Given the description of an element on the screen output the (x, y) to click on. 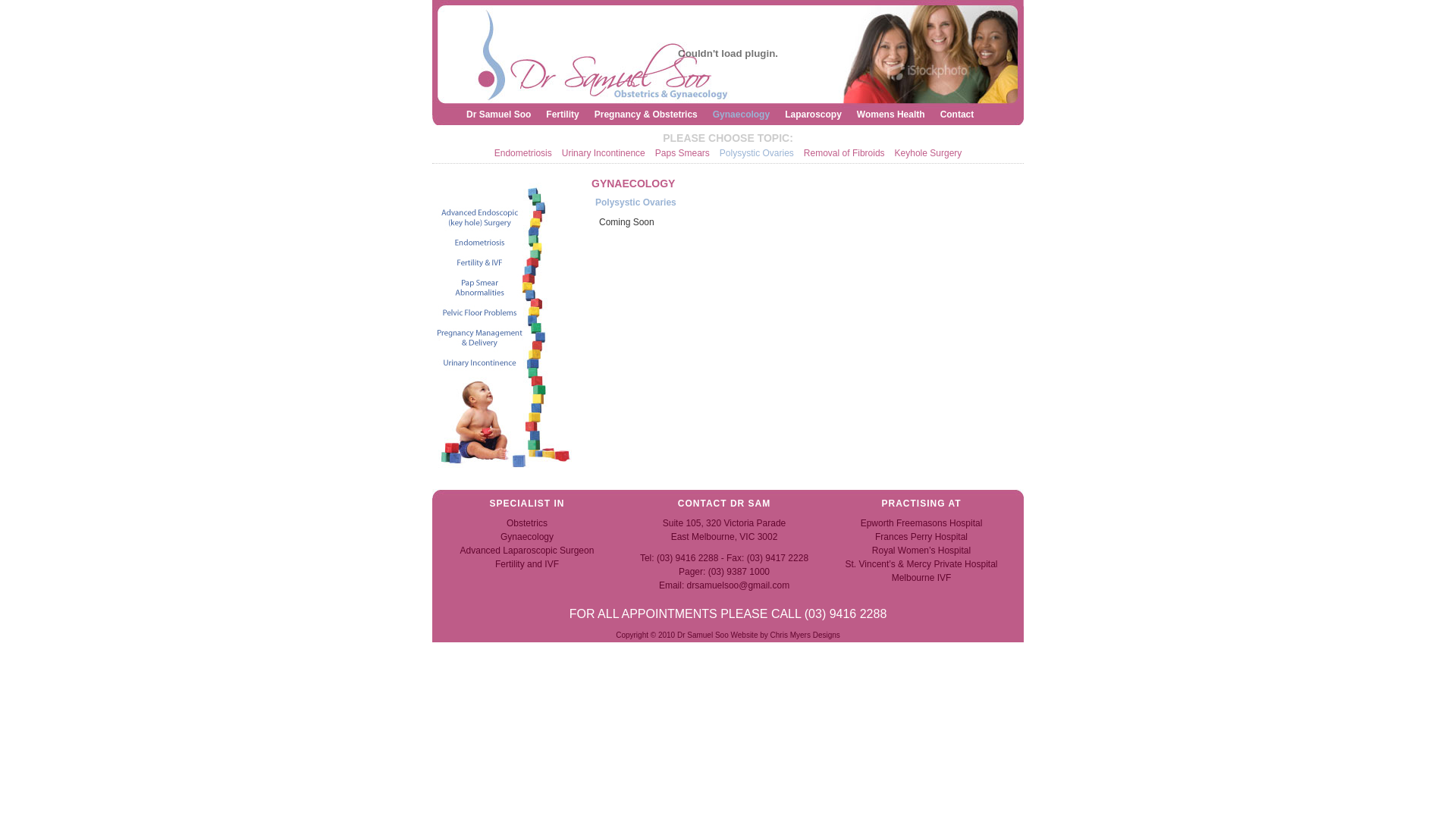
Contact Element type: text (957, 114)
Pregnancy & Obstetrics Element type: text (645, 114)
Melbourne IVF Element type: text (921, 577)
Website by Chris Myers Designs Element type: text (785, 634)
Frances Perry Hospital Element type: text (921, 536)
Keyhole Surgery Element type: text (928, 152)
Fertility Element type: text (562, 114)
Removal of Fibroids Element type: text (843, 152)
Womens Health Element type: text (890, 114)
Epworth Freemasons Hospital Element type: text (921, 522)
Dr Samuel Soo Element type: text (498, 114)
drsamuelsoo@gmail.com Element type: text (738, 585)
Endometriosis Element type: text (523, 152)
Laparoscopy Element type: text (812, 114)
Urinary Incontinence Element type: text (603, 152)
Paps Smears Element type: text (682, 152)
